Given the description of an element on the screen output the (x, y) to click on. 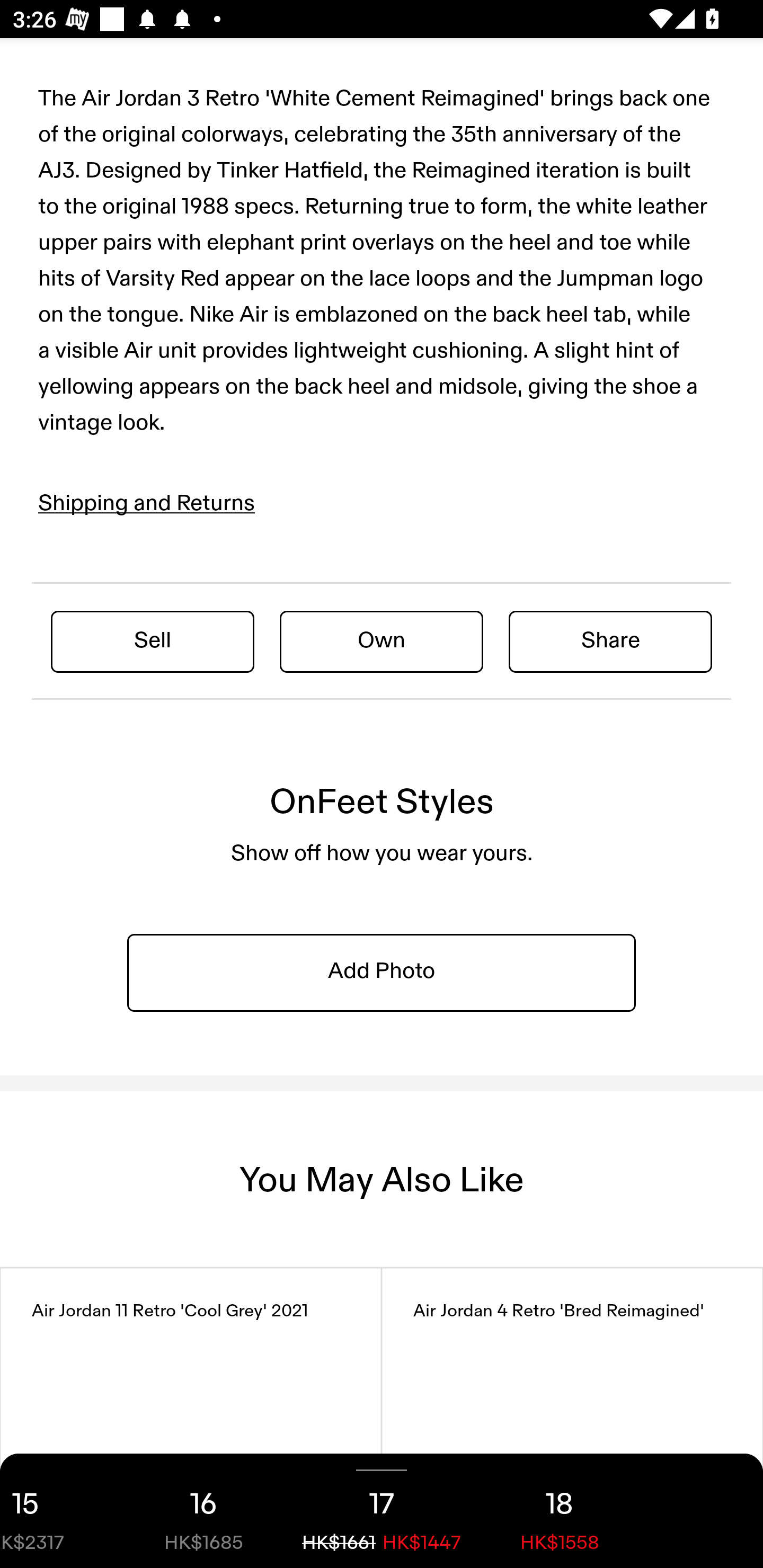
Shipping and Returns (146, 503)
Sell (152, 640)
Own (381, 640)
Share (609, 640)
Add Photo (381, 971)
Air Jordan 11 Retro 'Cool Grey' 2021 (190, 1417)
Air Jordan 4 Retro 'Bred Reimagined' (572, 1417)
15 HK$2317 (57, 1510)
16 HK$1685 (203, 1510)
17 HK$1661 HK$1447 (381, 1510)
18 HK$1558 (559, 1510)
